Given the description of an element on the screen output the (x, y) to click on. 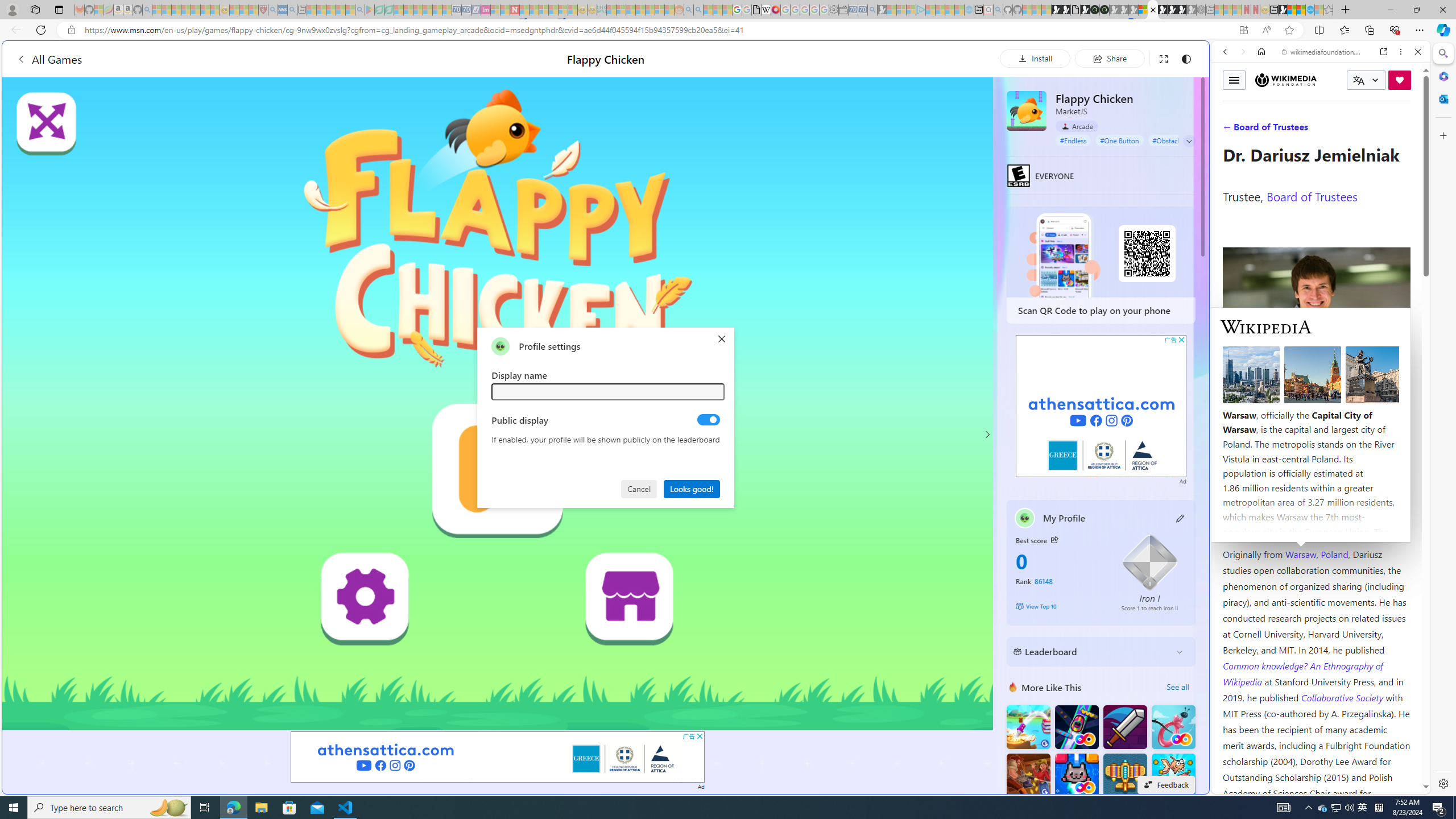
Leaderboard (1091, 651)
Arcade (1076, 126)
Class: button edit-icon (1180, 517)
